Given the description of an element on the screen output the (x, y) to click on. 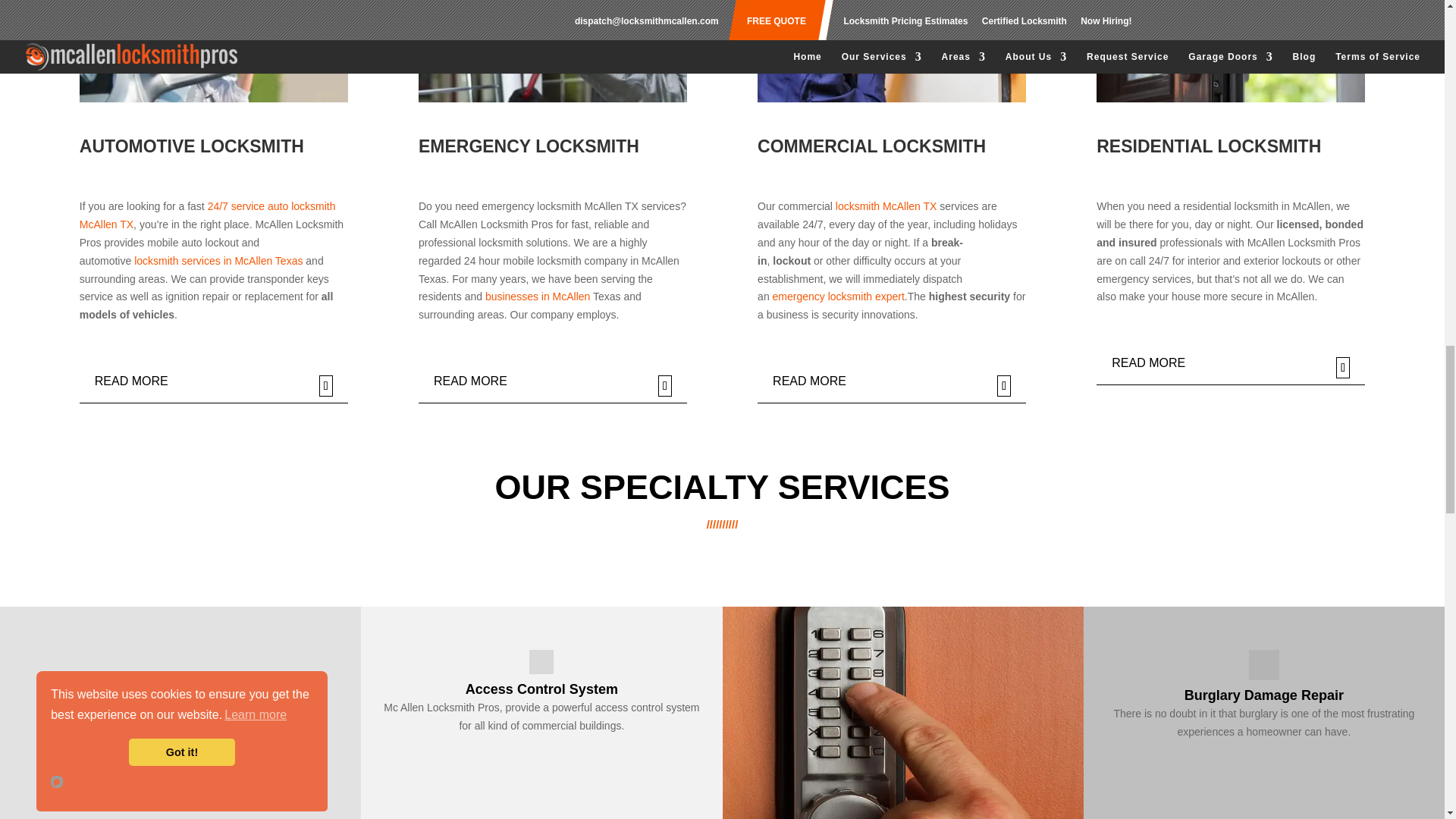
Professional Car Key Replacement (180, 712)
burglary-damage-repair (902, 712)
